Given the description of an element on the screen output the (x, y) to click on. 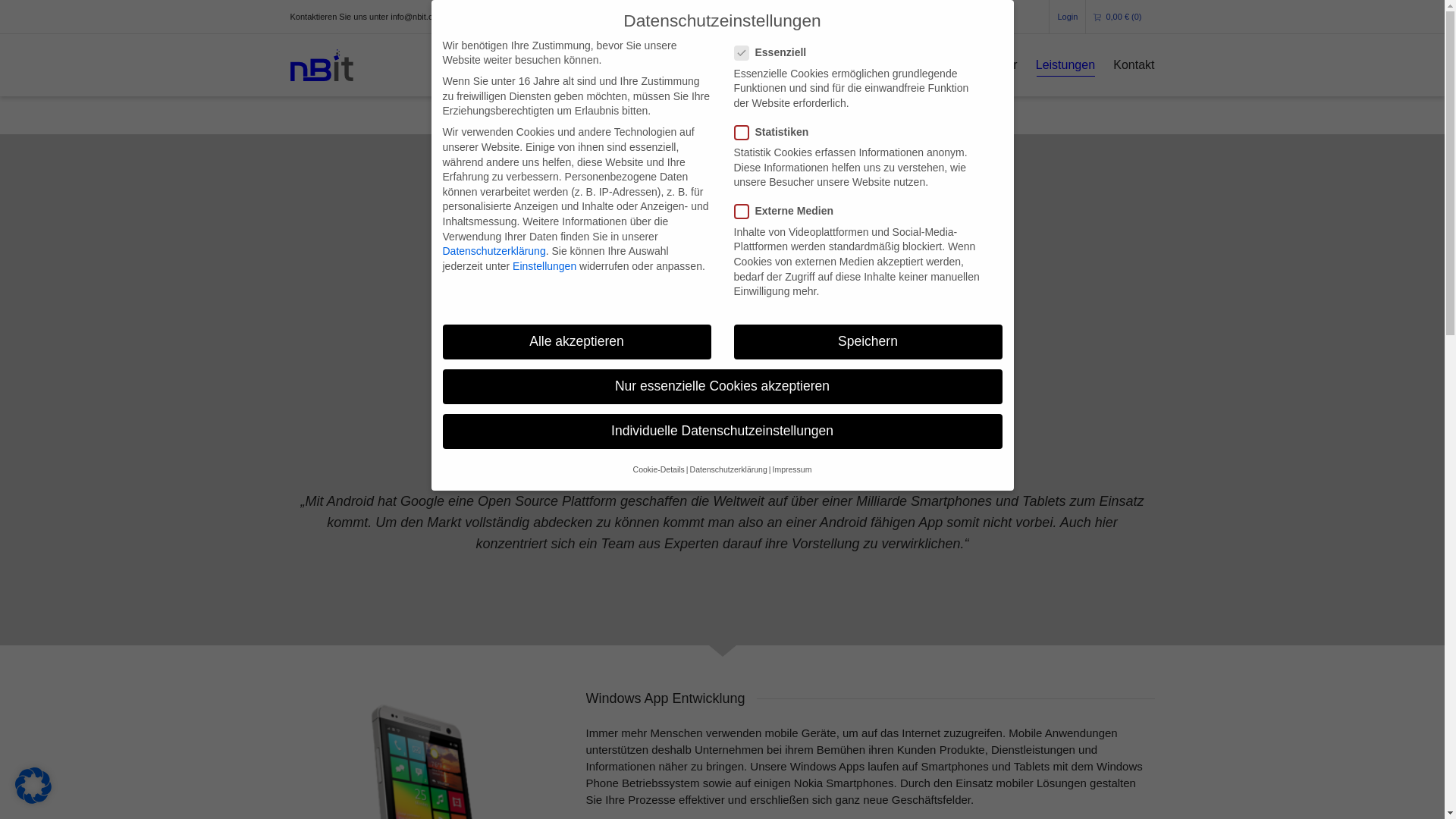
Speichern Element type: text (868, 341)
Alle akzeptieren Element type: text (576, 341)
Leistungen Element type: text (1065, 65)
Nur essenzielle Cookies akzeptieren Element type: text (722, 386)
Agentur Element type: text (996, 65)
Einstellungen Element type: text (544, 266)
Cookie-Details Element type: text (658, 469)
Individuelle Datenschutzeinstellungen Element type: text (722, 431)
Impressum Element type: text (791, 469)
Startseite Element type: text (931, 65)
Login Element type: text (1067, 16)
Kontakt Element type: text (1133, 65)
